Given the description of an element on the screen output the (x, y) to click on. 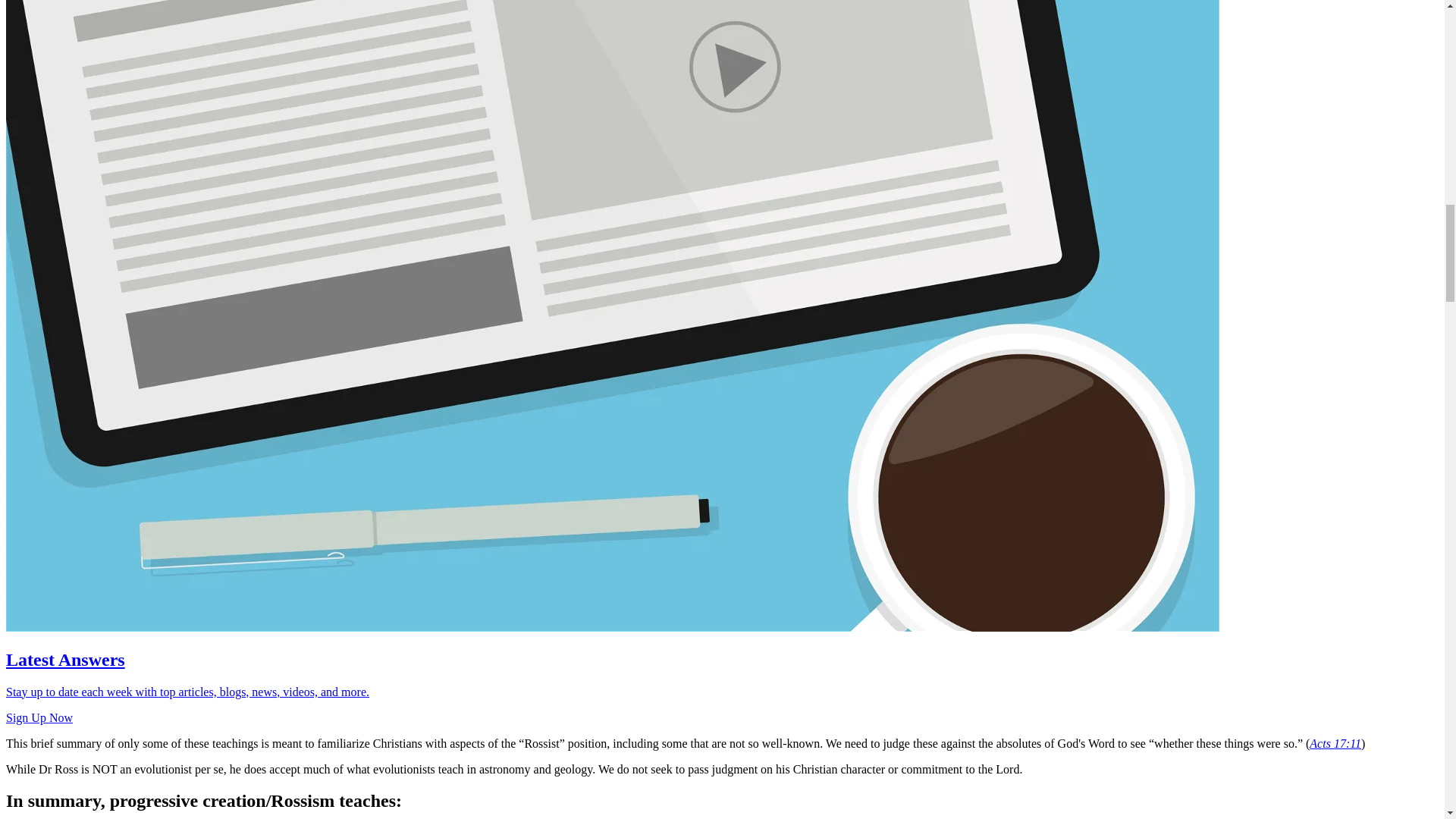
Acts 17:11 (1334, 743)
